Given the description of an element on the screen output the (x, y) to click on. 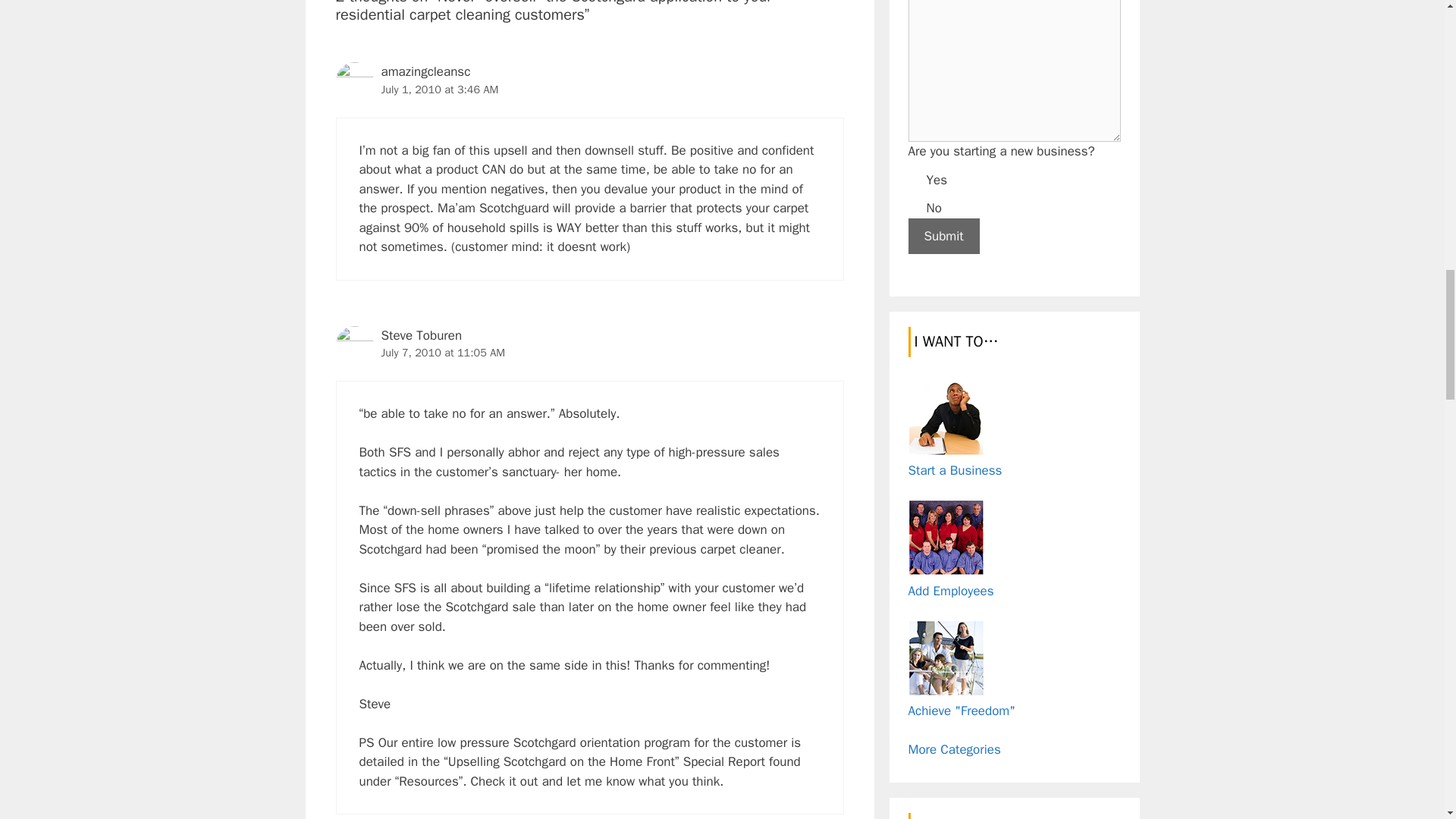
Yes (914, 177)
No (914, 205)
